Given the description of an element on the screen output the (x, y) to click on. 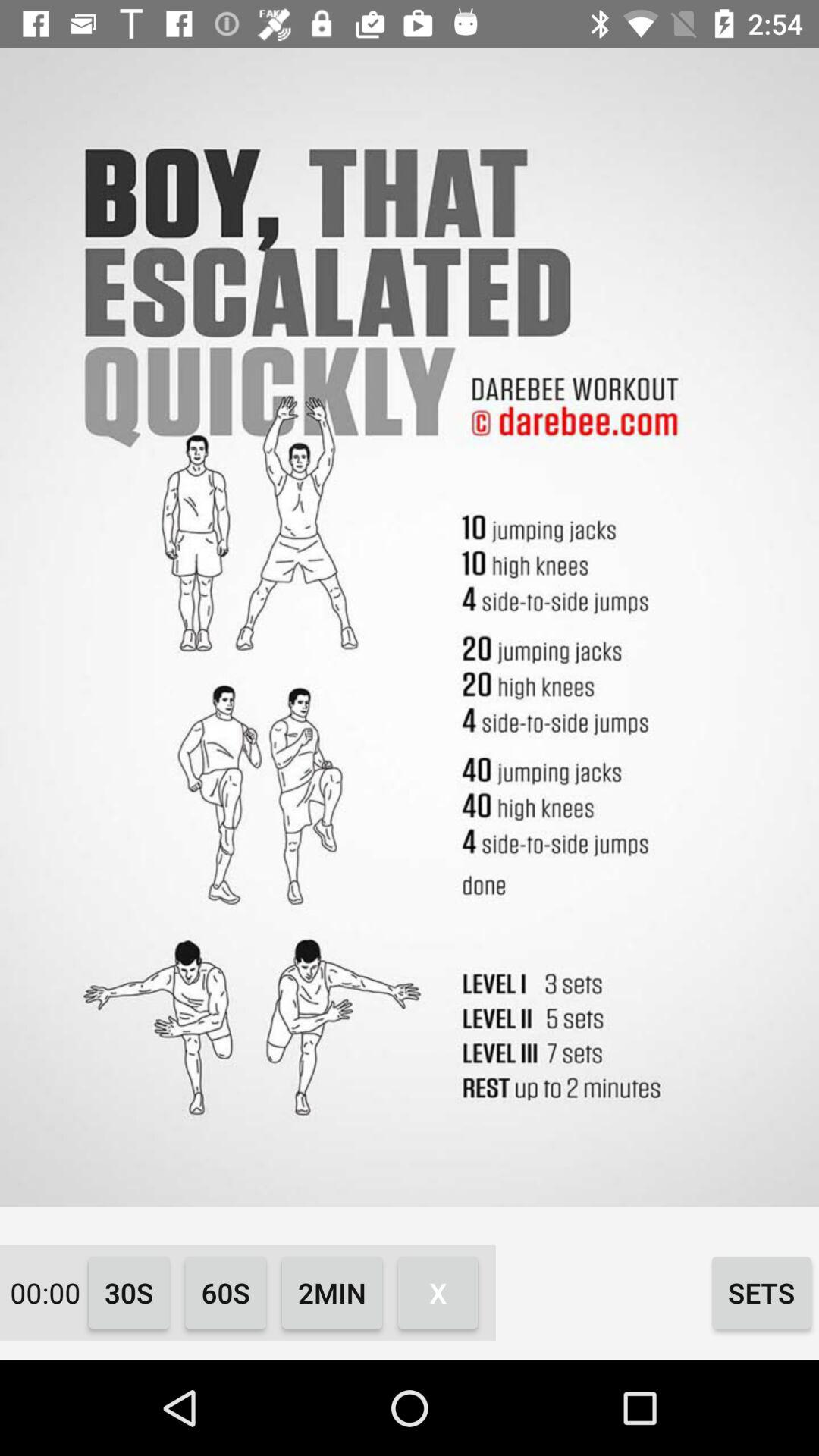
swipe until the x icon (437, 1292)
